Given the description of an element on the screen output the (x, y) to click on. 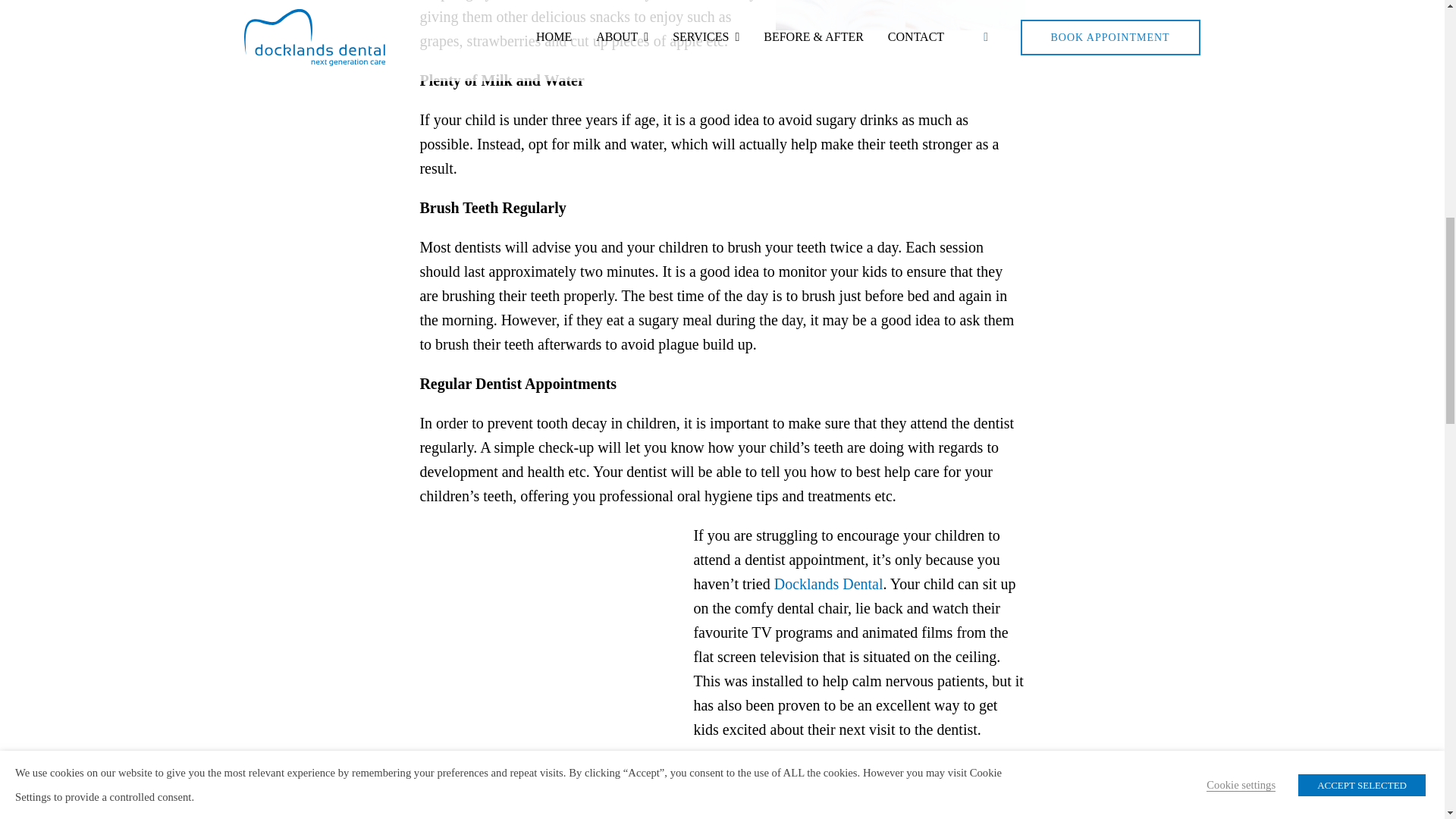
Docklands Dental (828, 582)
